Given the description of an element on the screen output the (x, y) to click on. 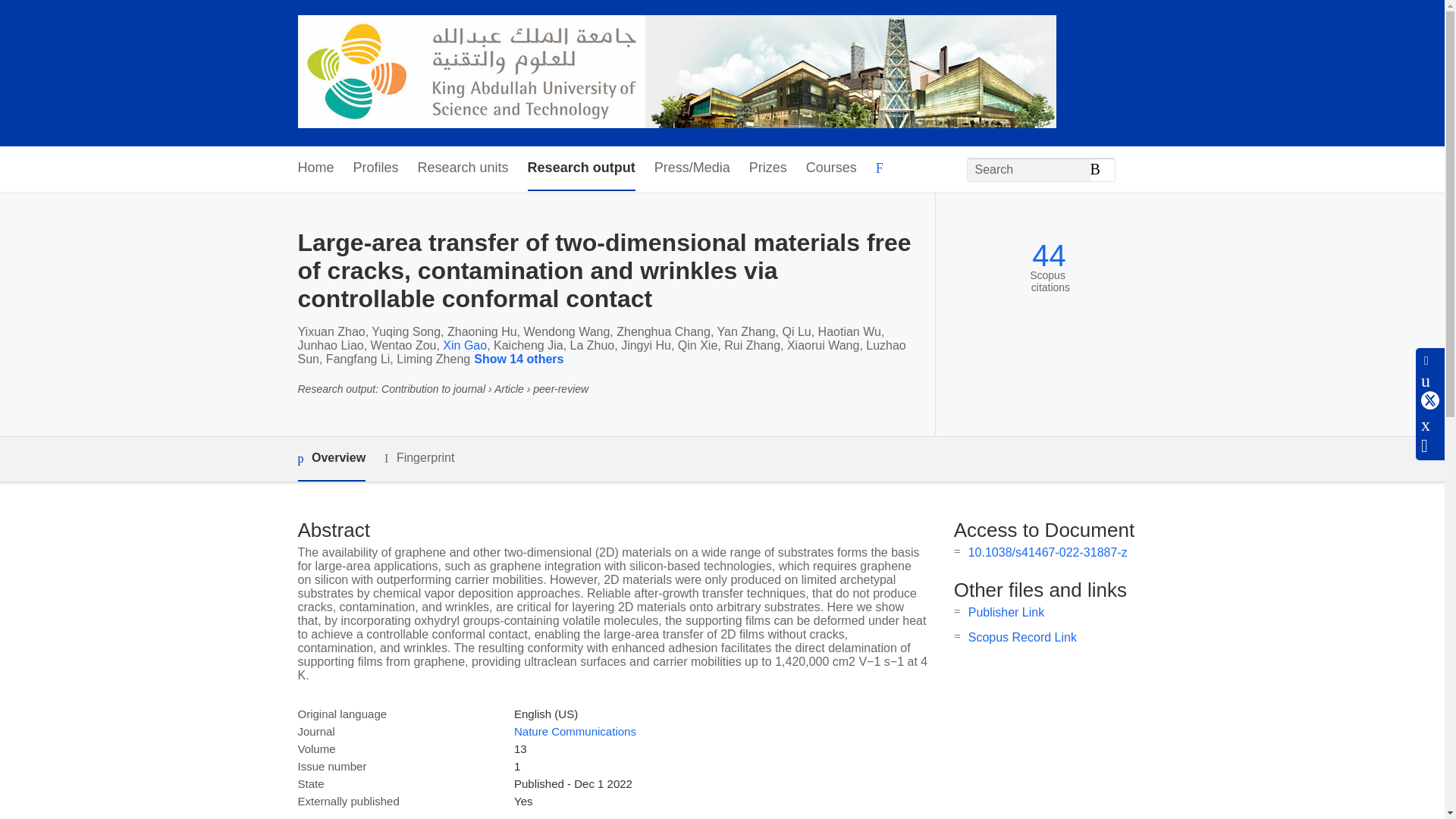
KAUST PORTAL FOR RESEARCHERS AND STUDENTS Home (676, 73)
Nature Communications (574, 730)
Fingerprint (419, 457)
Overview (331, 458)
Publisher Link (1006, 612)
Scopus Record Link (1022, 636)
Research output (580, 168)
44 (1048, 255)
Profiles (375, 168)
Research units (462, 168)
Courses (831, 168)
Xin Gao (464, 345)
Show 14 others (521, 359)
